Given the description of an element on the screen output the (x, y) to click on. 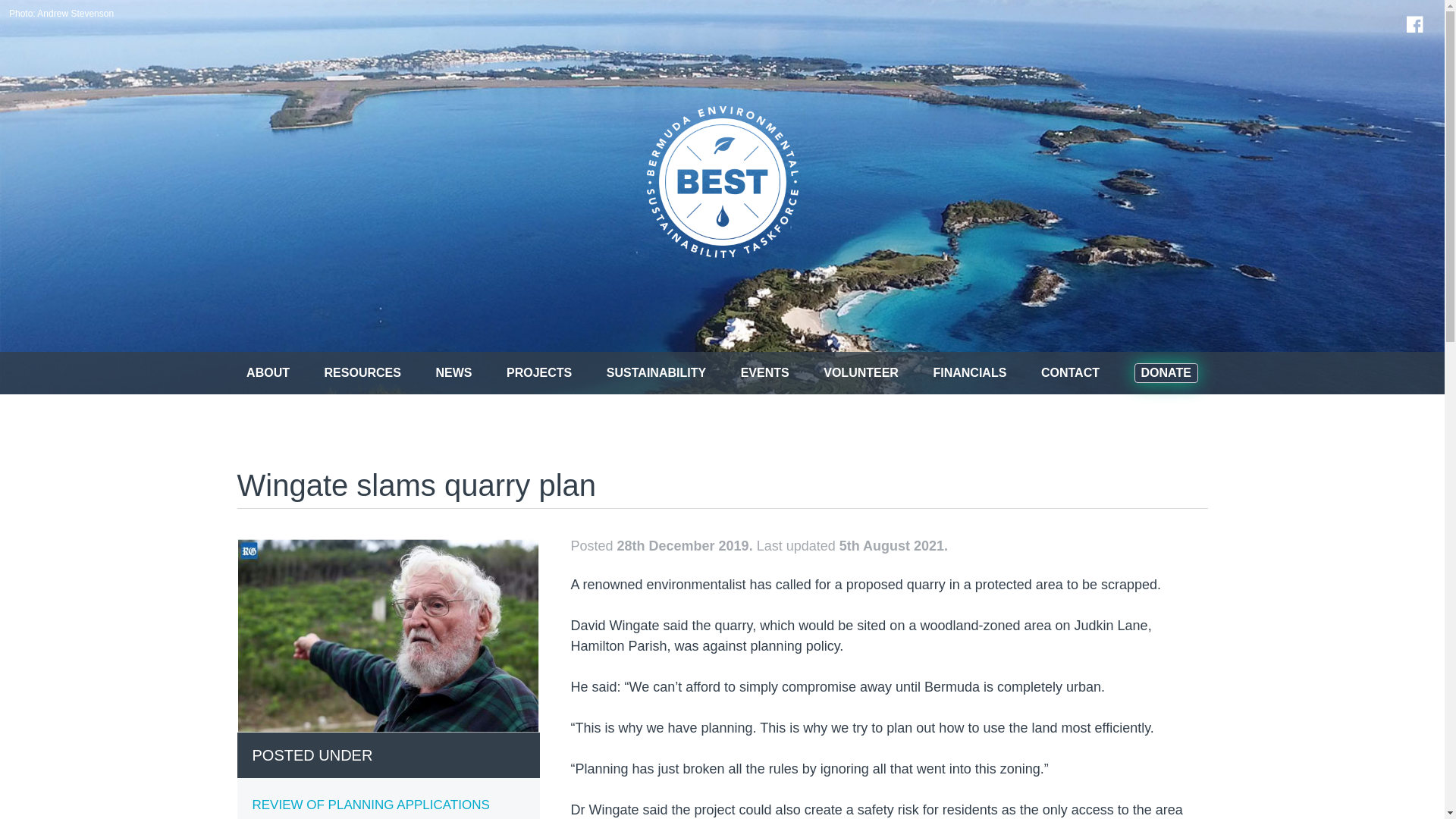
EVENTS (780, 372)
ABOUT (283, 372)
Photo: Andrew Stevenson (60, 13)
PROJECTS (554, 372)
FINANCIALS (984, 372)
NEWS (468, 372)
DONATE (1166, 373)
REVIEW OF PLANNING APPLICATIONS (370, 804)
View full image (387, 635)
RESOURCES (377, 372)
CONTACT (1085, 372)
VOLUNTEER (876, 372)
SUSTAINABILITY (671, 372)
